Given the description of an element on the screen output the (x, y) to click on. 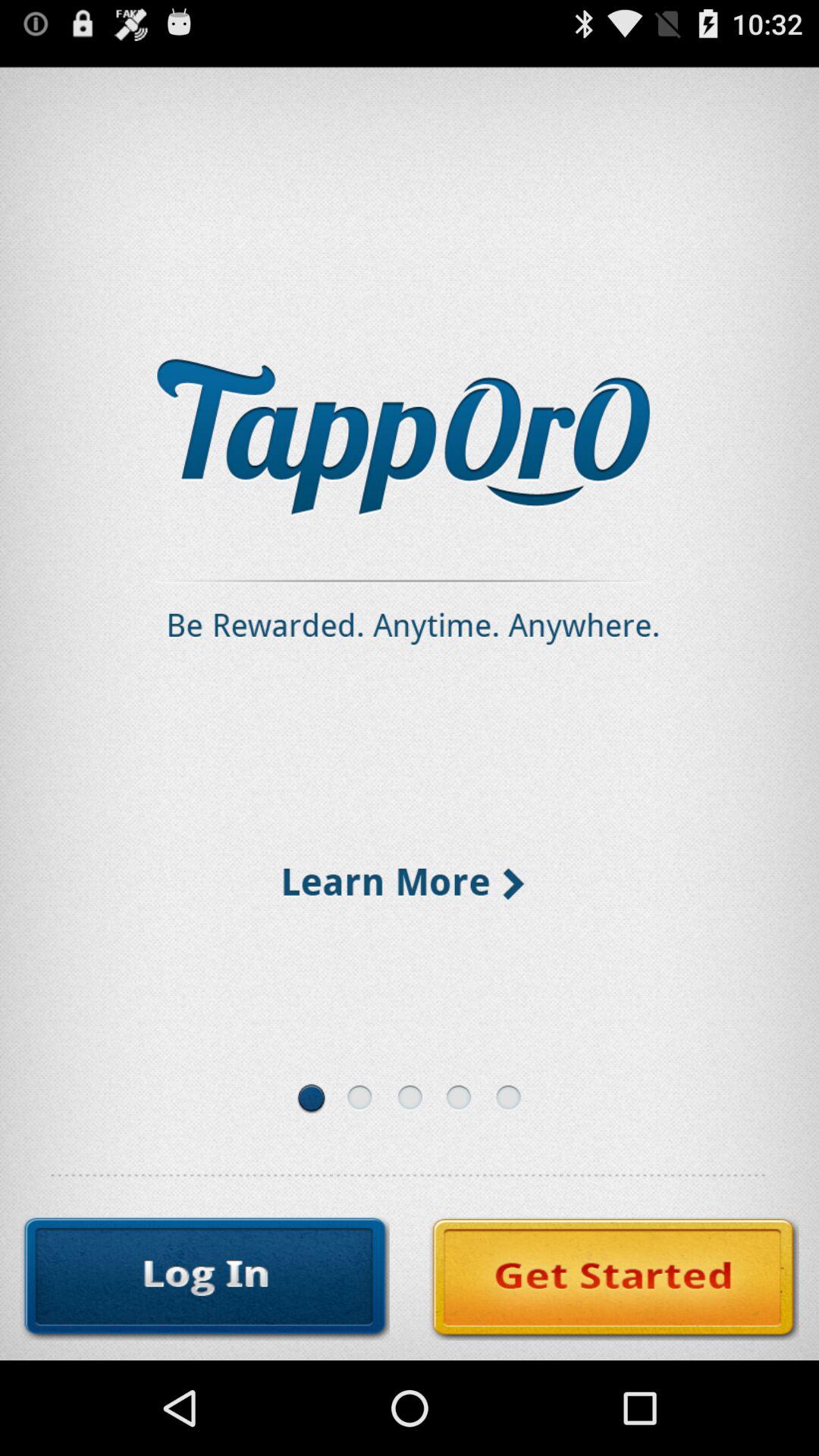
select the icon at the bottom left corner (204, 1278)
